Given the description of an element on the screen output the (x, y) to click on. 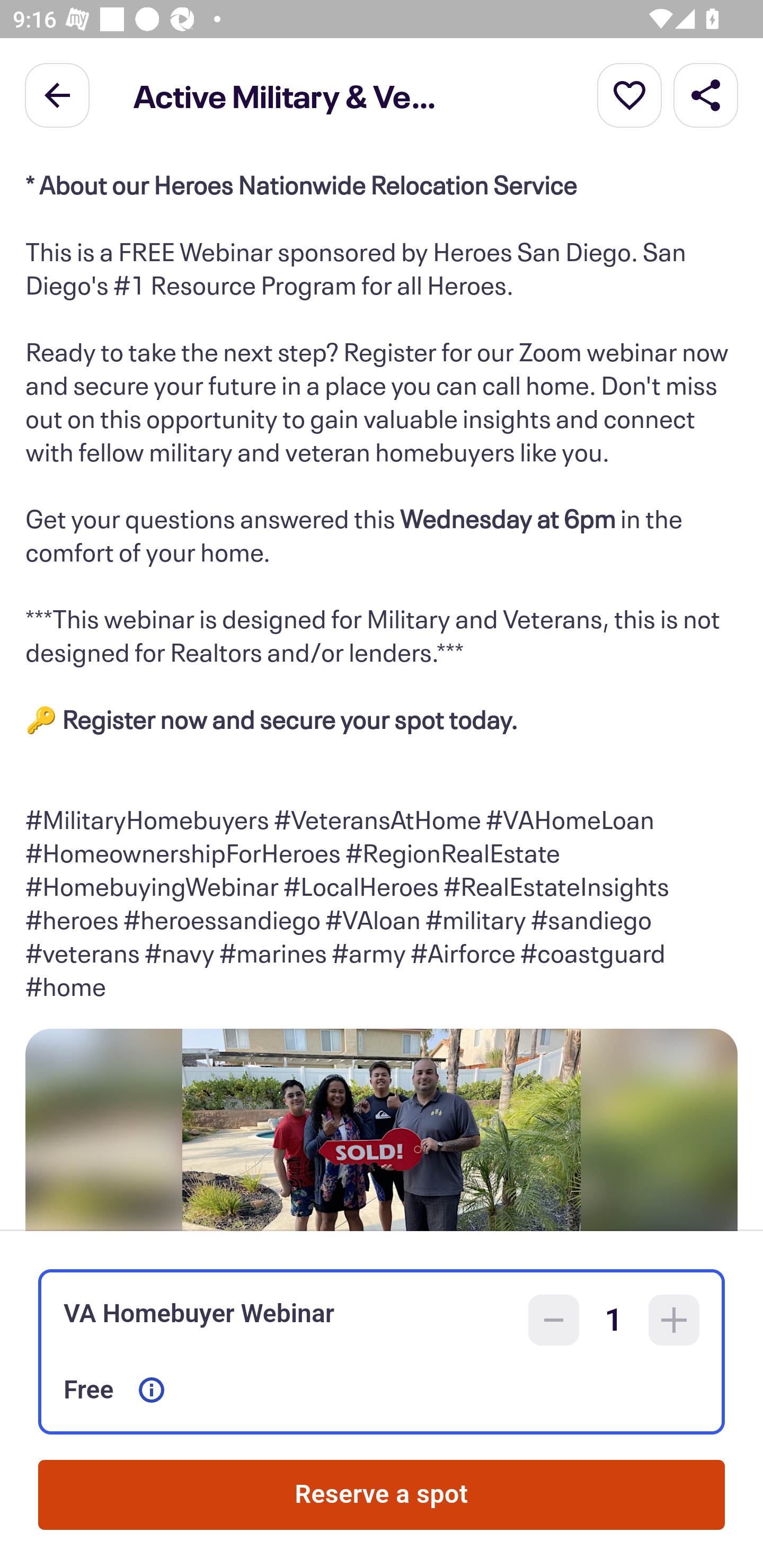
Back (57, 94)
More (629, 94)
Share (705, 94)
Decrease (553, 1320)
Increase (673, 1320)
Show more information (151, 1389)
Reserve a spot (381, 1494)
